Given the description of an element on the screen output the (x, y) to click on. 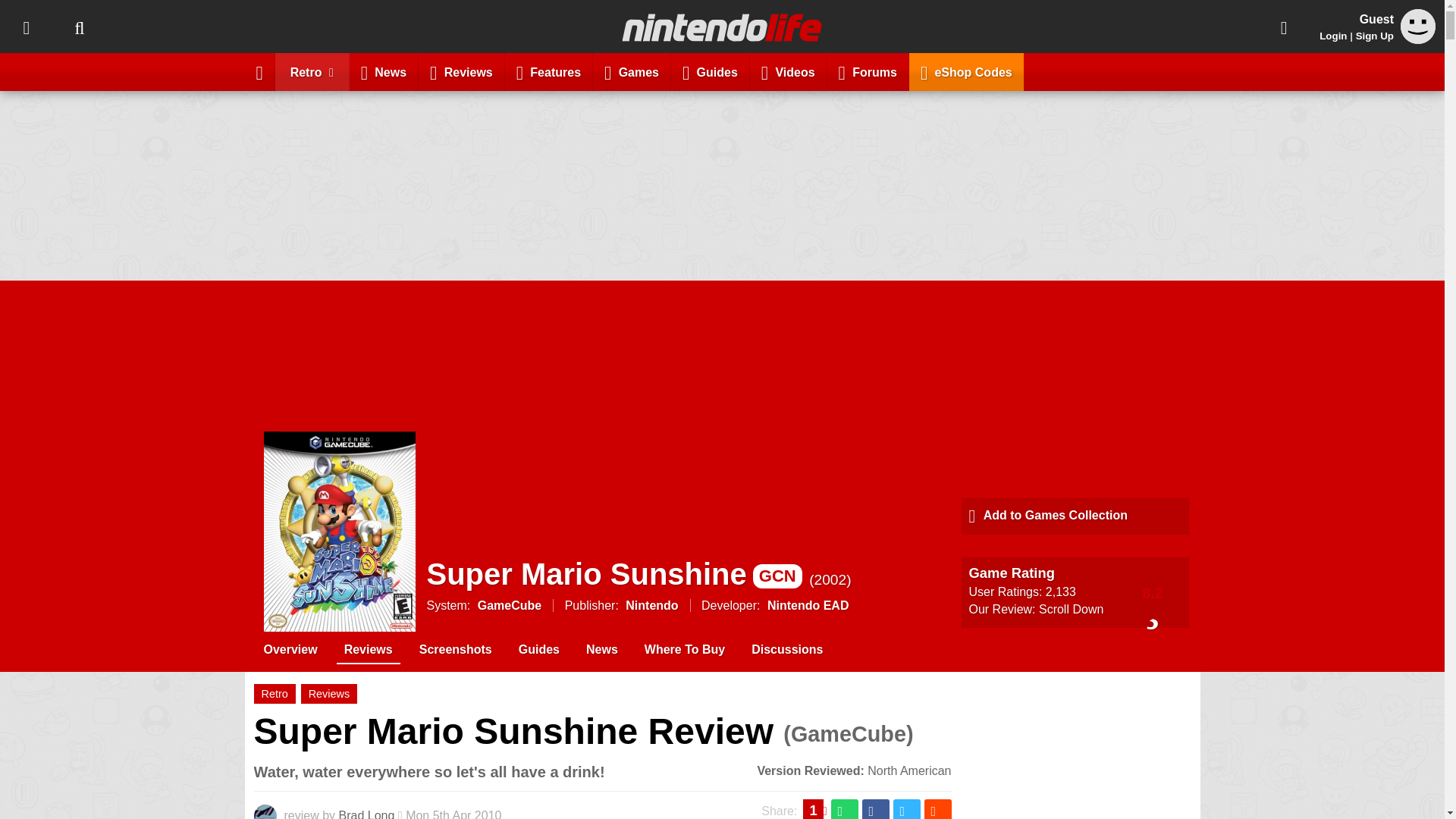
News (384, 71)
Guides (710, 71)
Nintendo Life (721, 27)
The average score from our readers is 8.23 (1152, 591)
Sign Up (1374, 35)
Topics (26, 26)
Guest (1417, 26)
Videos (788, 71)
Super Mario SunshineGCN (614, 573)
Nintendo Life (721, 27)
Search (79, 26)
Share This Page (1283, 26)
Forums (867, 71)
eShop Codes (965, 71)
Retro (312, 71)
